Given the description of an element on the screen output the (x, y) to click on. 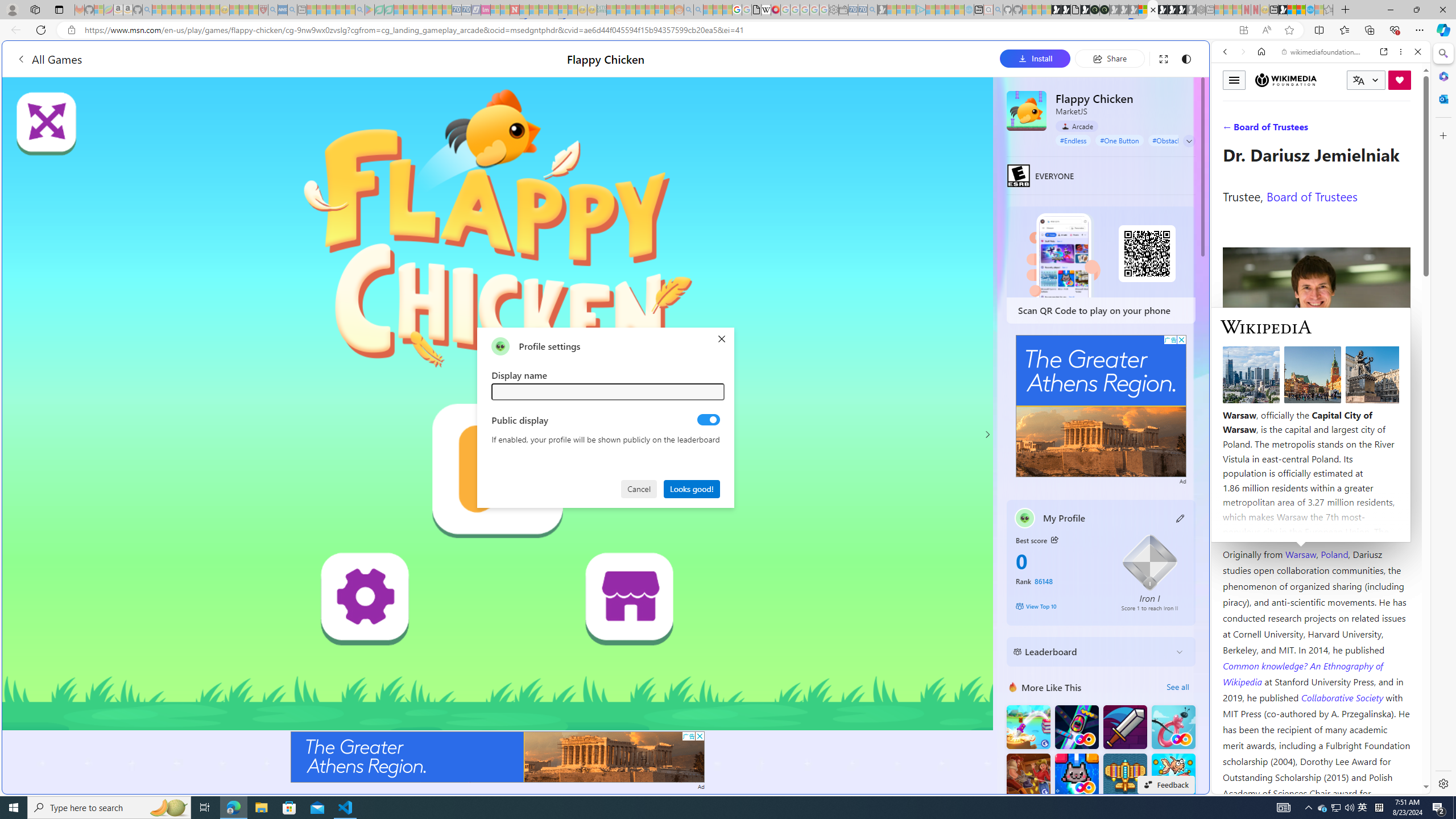
#Endless (1073, 140)
Microsoft Start - Sleeping (949, 9)
google - Search - Sleeping (359, 9)
Play Free Online Games | Games from Microsoft Start (1162, 9)
#One Button (1119, 140)
Close split screen (1208, 57)
Expert Portfolios - Sleeping (639, 9)
